Given the description of an element on the screen output the (x, y) to click on. 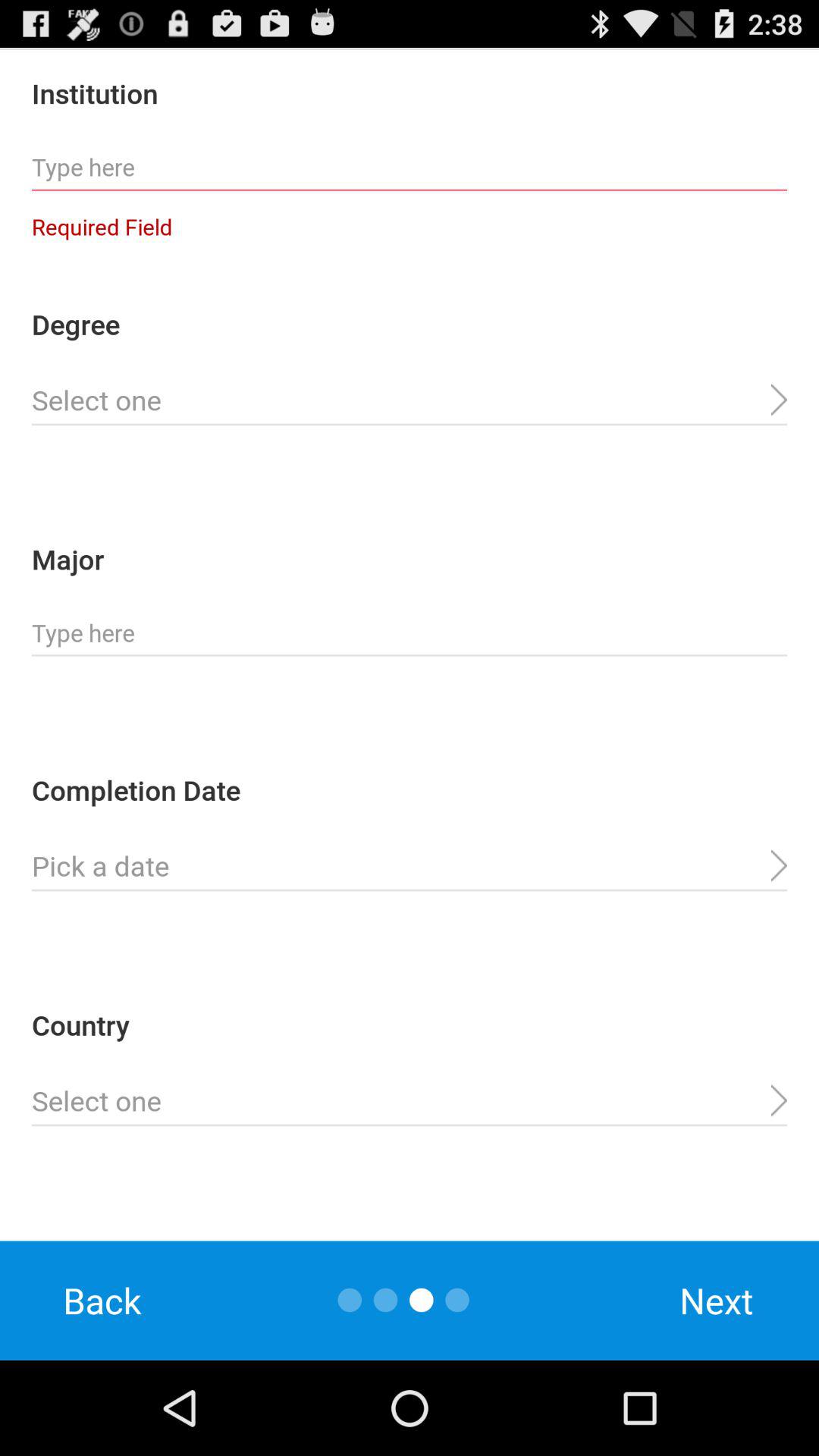
type major (409, 633)
